Given the description of an element on the screen output the (x, y) to click on. 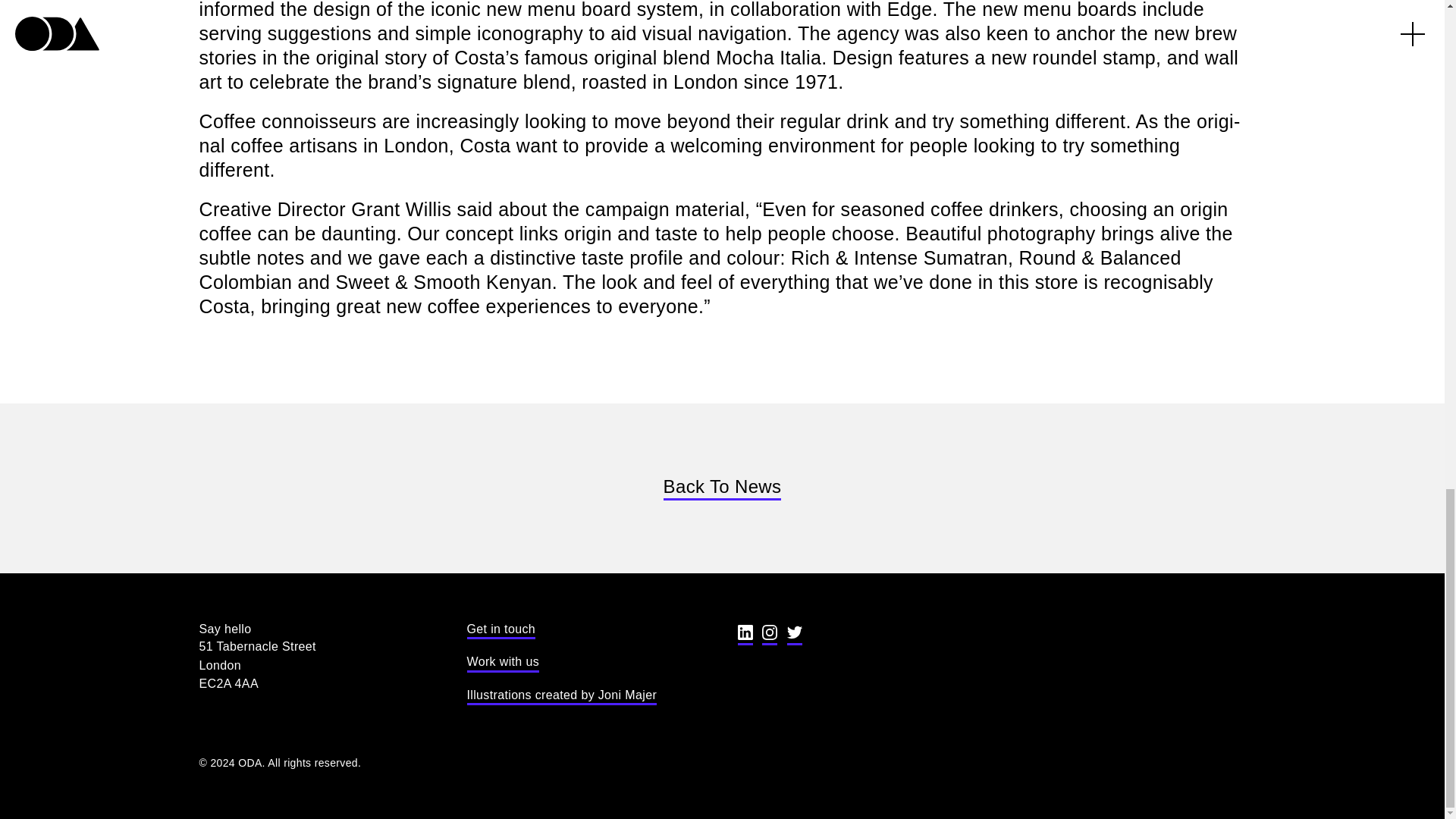
Work with us (502, 662)
Back To News (722, 487)
Illustrations created by Joni Majer (562, 696)
Back To News (722, 487)
Illustrations created by Joni Majer (562, 696)
Work with us (502, 662)
Get in touch (501, 630)
Get in touch (501, 630)
